Given the description of an element on the screen output the (x, y) to click on. 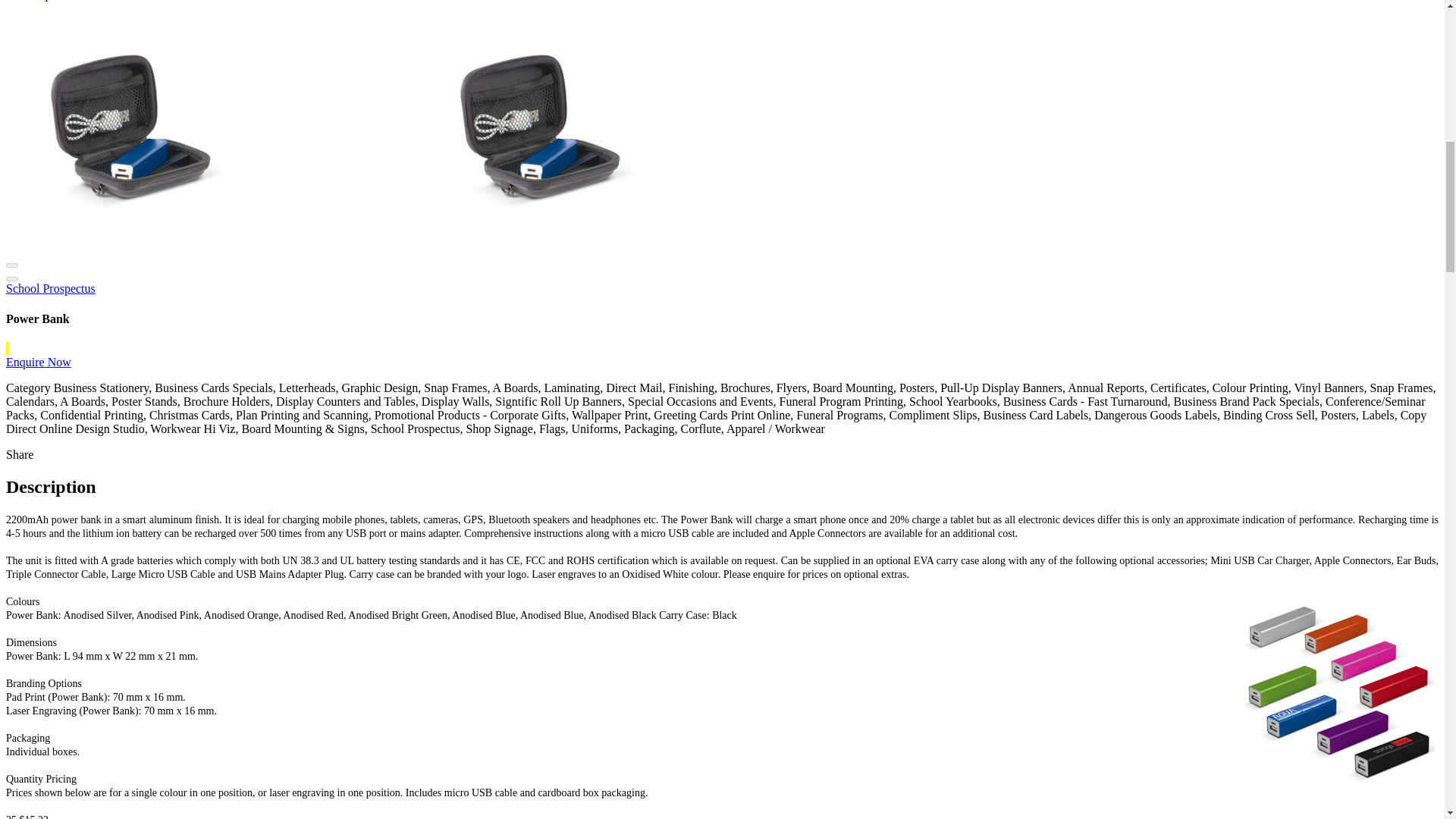
School Prospectus (50, 287)
Enquire Now (38, 361)
Upload File (65, 0)
